Given the description of an element on the screen output the (x, y) to click on. 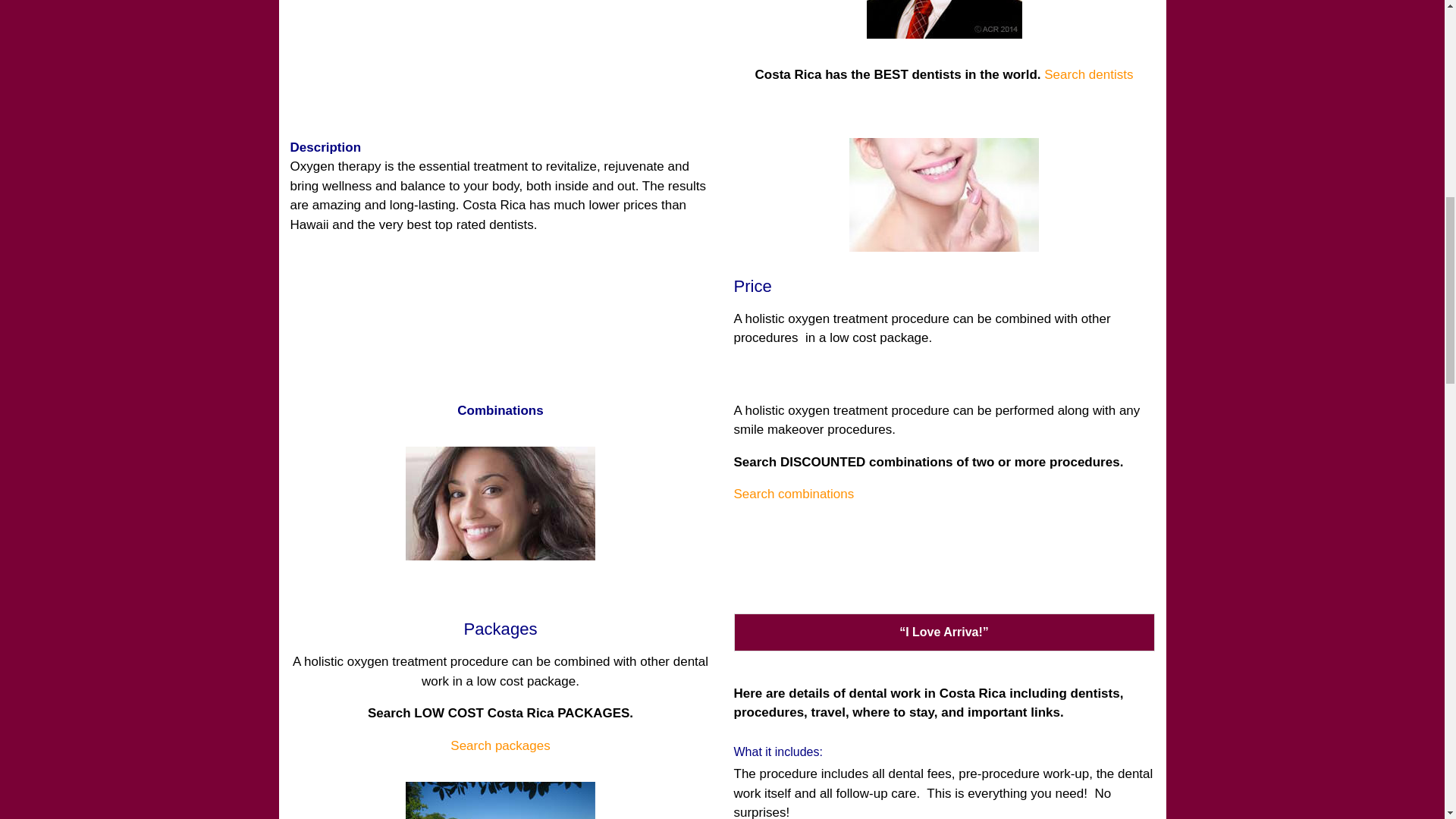
Search packages (499, 745)
packages-picture (500, 800)
dental-combinations (500, 503)
Search dentists (1087, 74)
Search combinations (793, 493)
dr-ignaciovargas (944, 19)
